Given the description of an element on the screen output the (x, y) to click on. 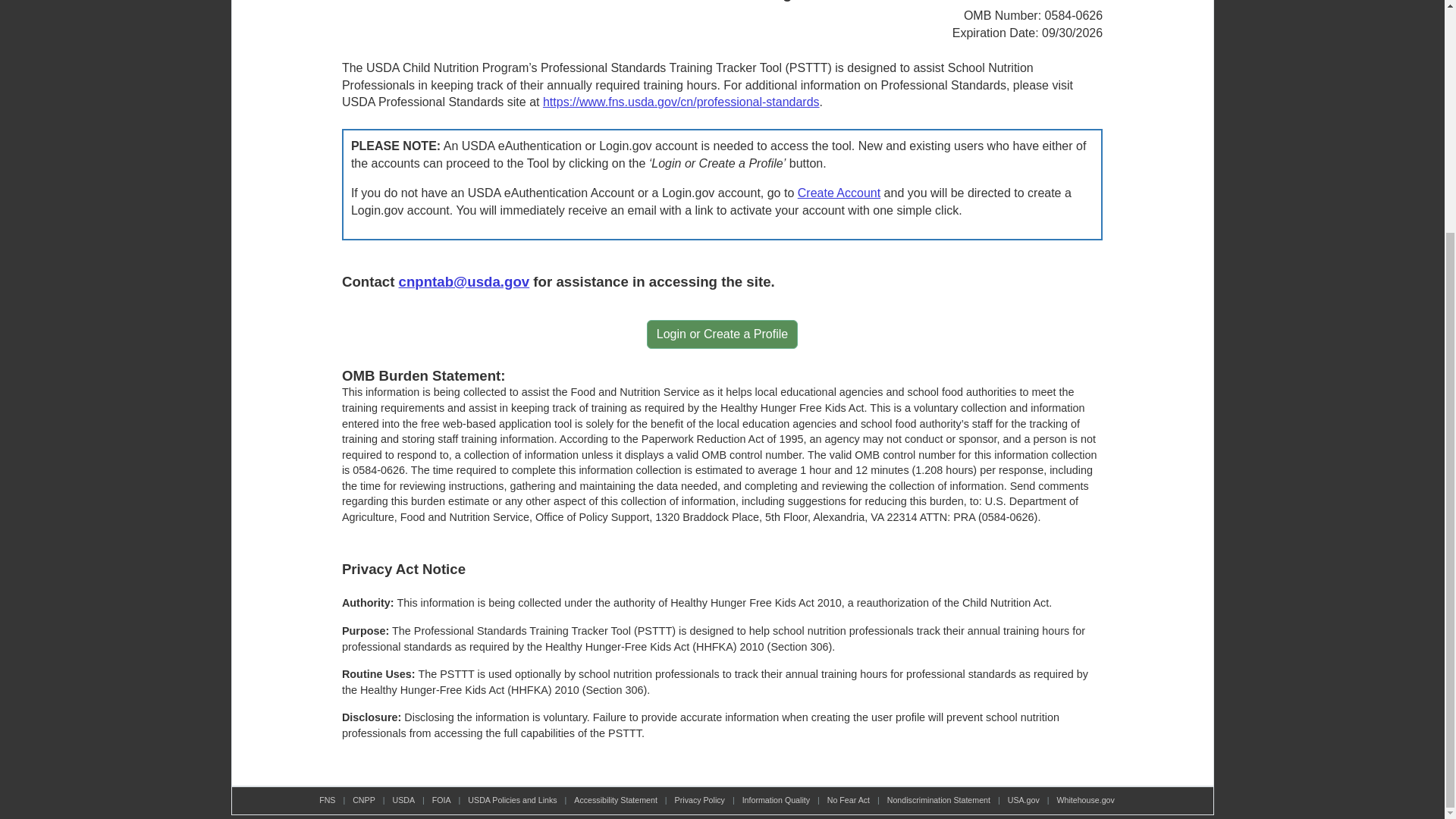
USA.gov (1023, 799)
Nondiscrimination Statement (938, 799)
CNPP (363, 799)
USDA Policies and Links (511, 799)
Information Quality (775, 799)
Login or Create a Profile (721, 334)
Privacy Policy (700, 799)
Accessibility Statement (615, 799)
Whitehouse.gov (1085, 799)
FNS (326, 799)
